Given the description of an element on the screen output the (x, y) to click on. 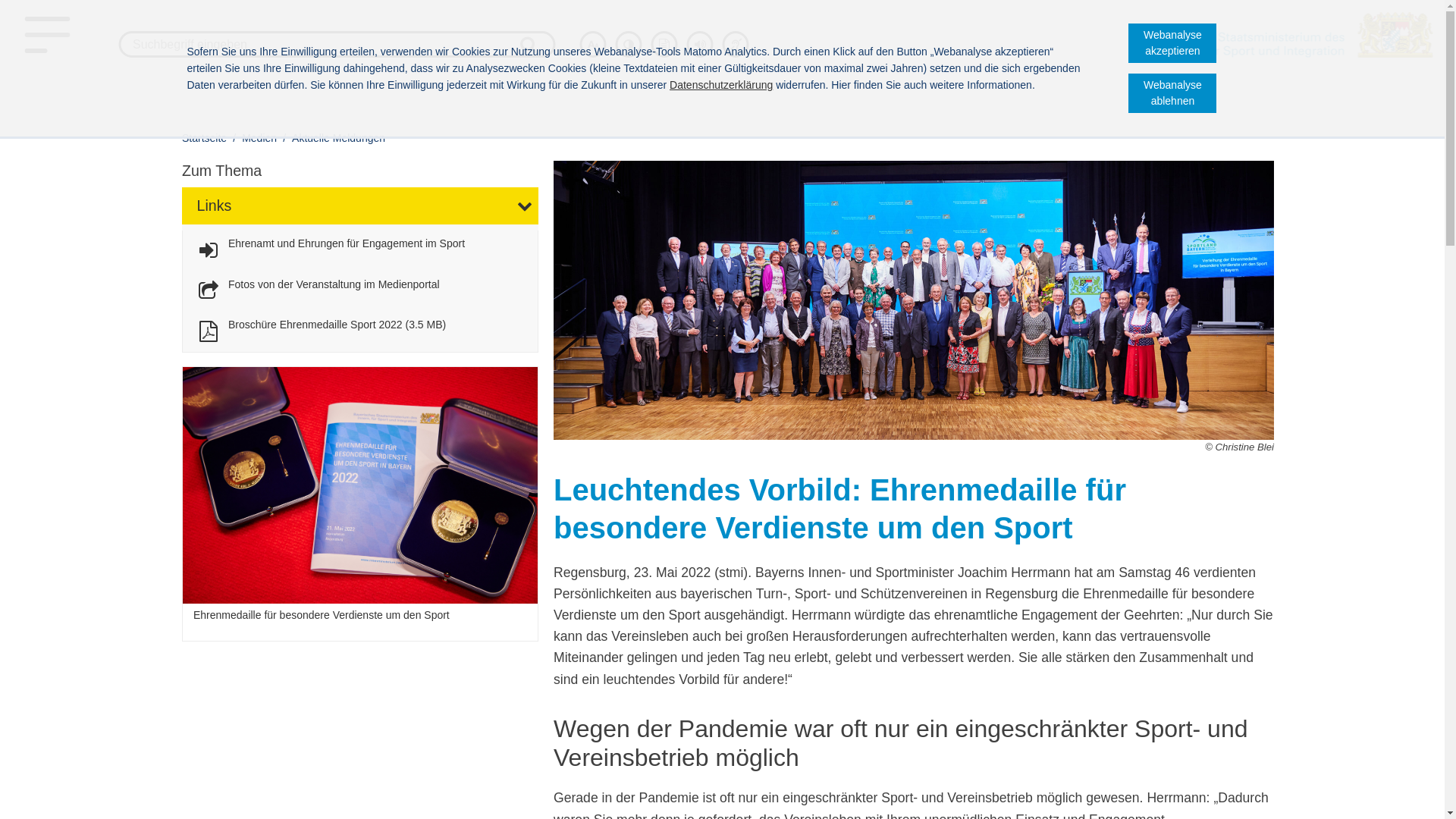
Kontrast anpassen Element type: hover (628, 44)
Startseite Element type: text (206, 137)
Aktuelle Meldungen Element type: text (338, 137)
Einfachen Inhalt anzeigen Element type: hover (663, 44)
Webanalyse akzeptieren Element type: text (1172, 42)
Webanalyse ablehnen Element type: text (1172, 92)
Medien Element type: text (259, 137)
Aktuelle Seite vorlesen lassen Element type: hover (700, 44)
Fotos von der Veranstaltung im Medienportal Element type: text (316, 291)
Links Element type: text (360, 206)
